Given the description of an element on the screen output the (x, y) to click on. 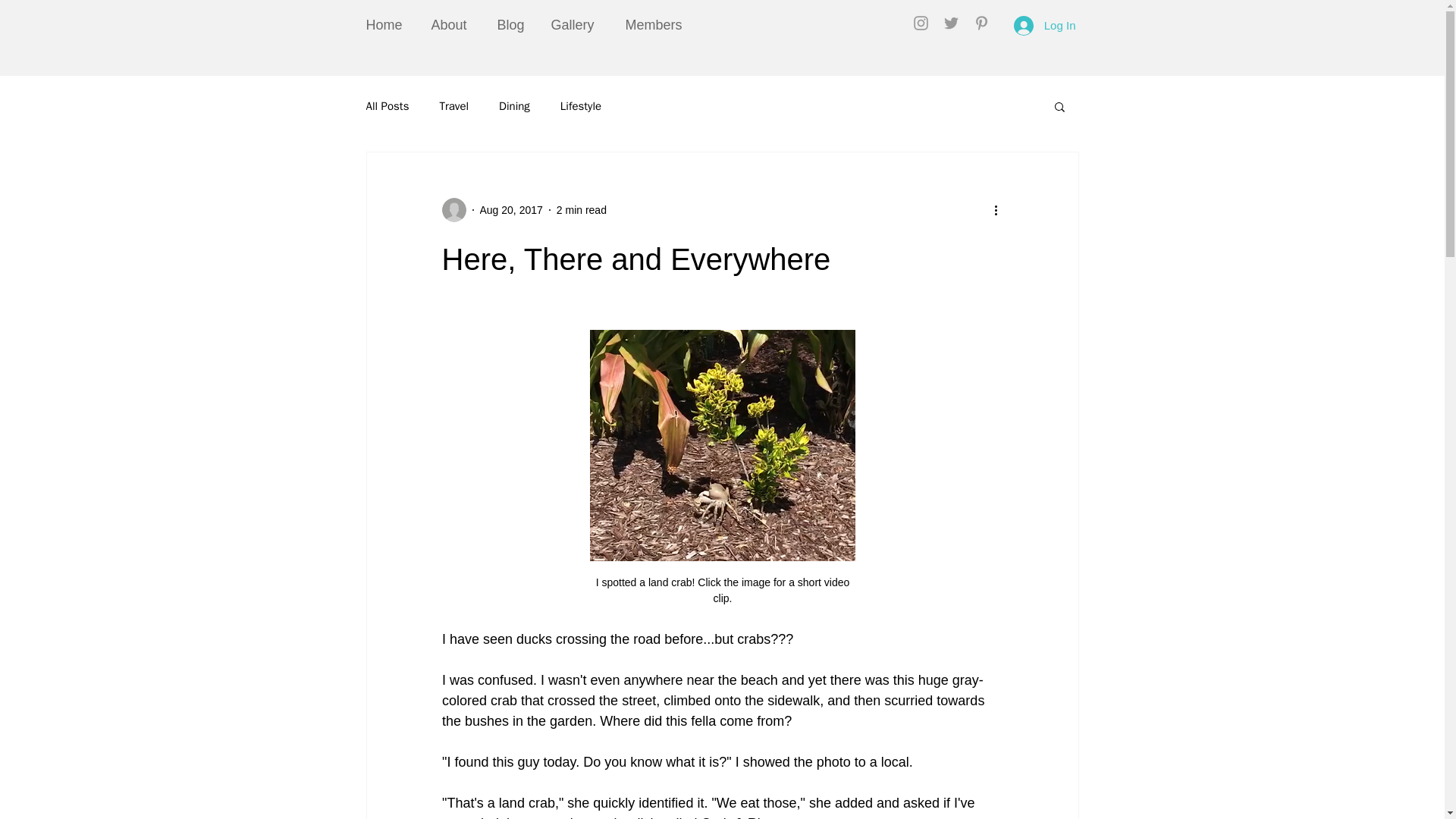
Members (659, 25)
Log In (1044, 24)
Home (387, 25)
Dining (514, 105)
Lifestyle (580, 105)
Travel (453, 105)
Gallery (577, 25)
Aug 20, 2017 (510, 209)
All Posts (387, 105)
